Given the description of an element on the screen output the (x, y) to click on. 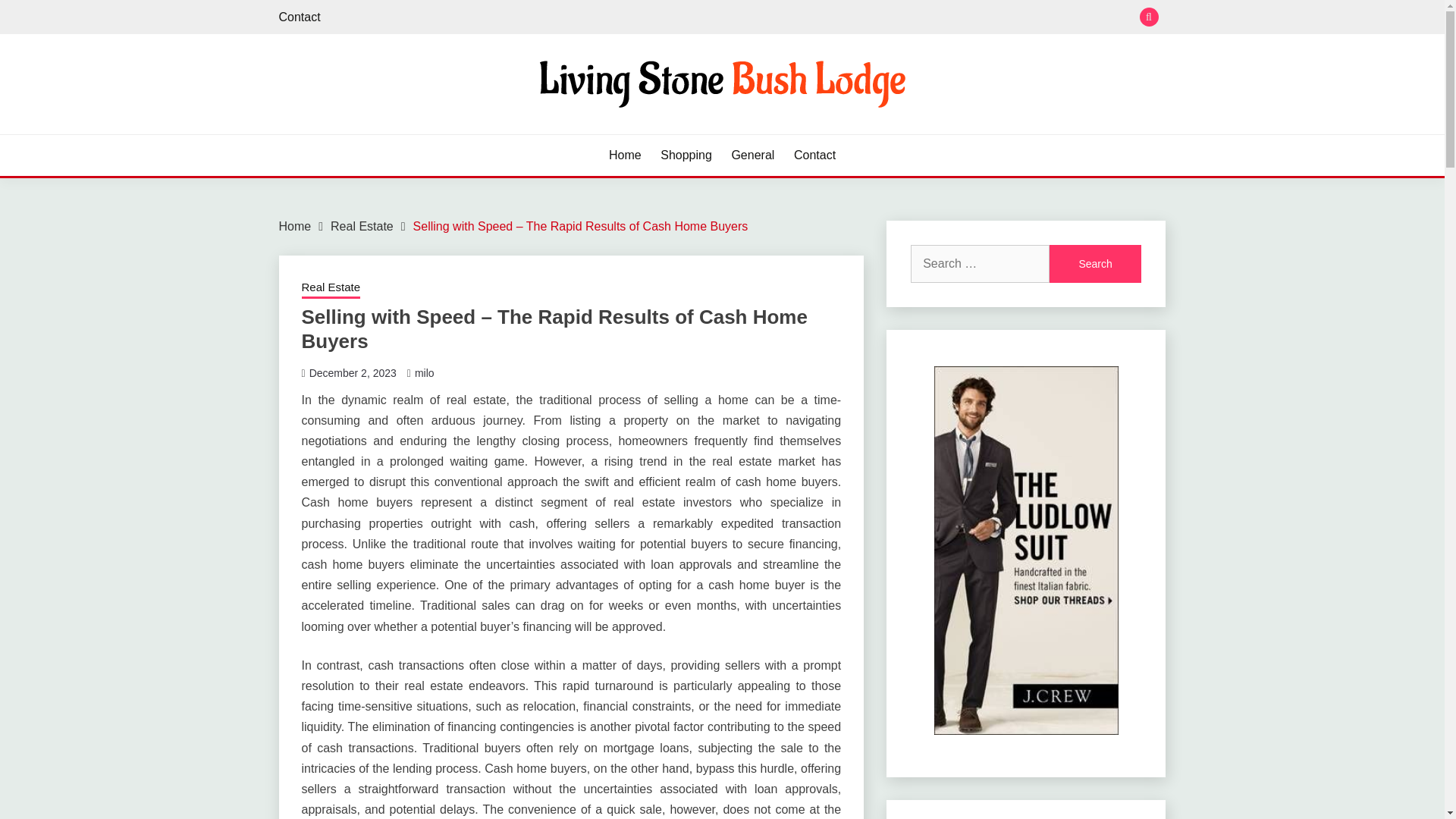
Contact (299, 16)
LIVING STONE BUSH LODGE (474, 132)
Home (625, 155)
Search (832, 18)
Search (1095, 263)
Home (295, 226)
Search (1095, 263)
December 2, 2023 (352, 372)
Real Estate (361, 226)
Shopping (686, 155)
